Given the description of an element on the screen output the (x, y) to click on. 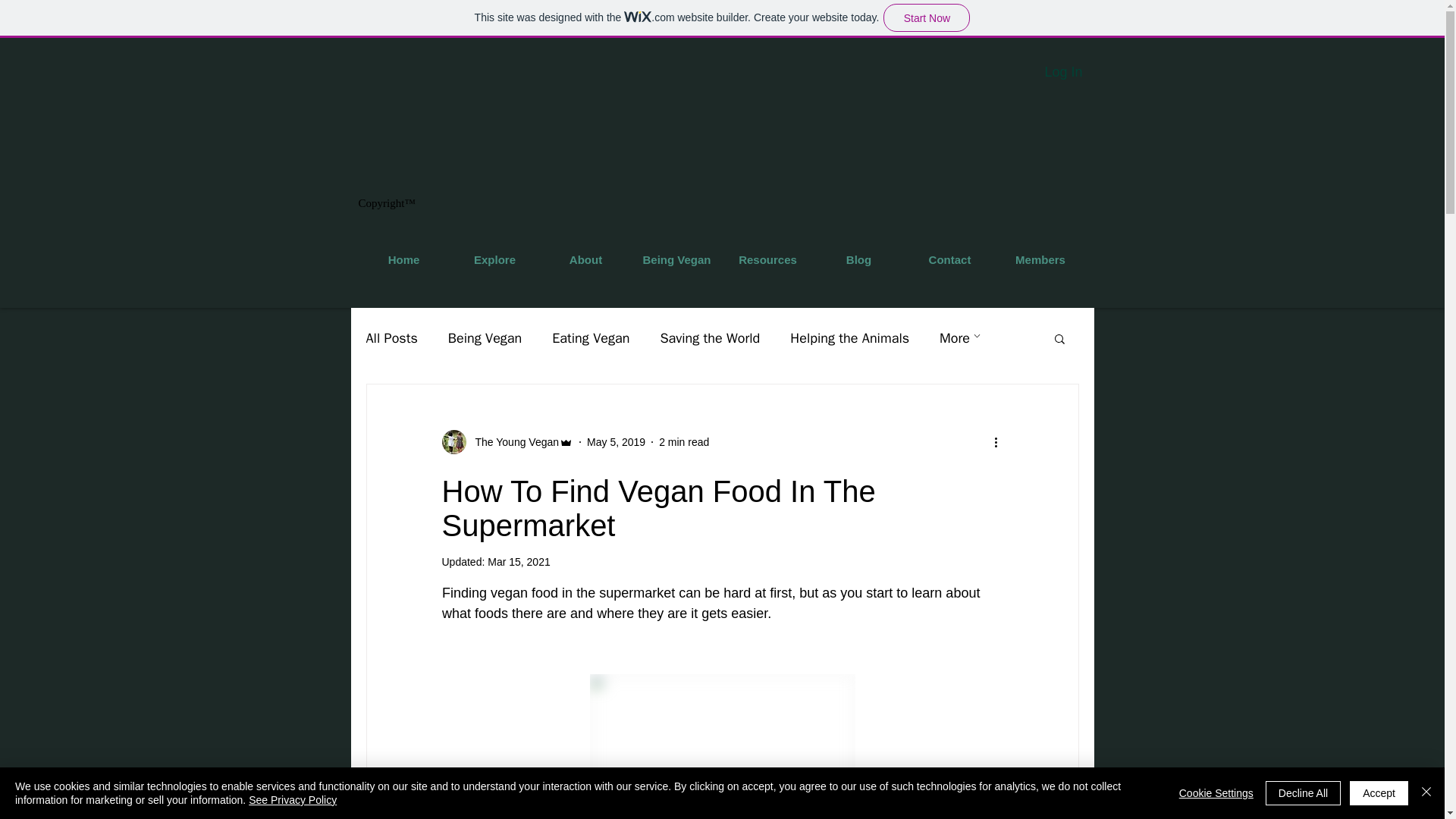
Being Vegan (484, 338)
Mar 15, 2021 (518, 562)
The Young Vegan (507, 441)
Members (1039, 259)
May 5, 2019 (615, 440)
Resources (767, 259)
The Young Vegan (512, 441)
All Posts (390, 338)
About (585, 259)
Explore (494, 259)
Log In (1063, 72)
Blog (858, 259)
Home (403, 259)
Contact (949, 259)
Being Vegan (676, 259)
